Given the description of an element on the screen output the (x, y) to click on. 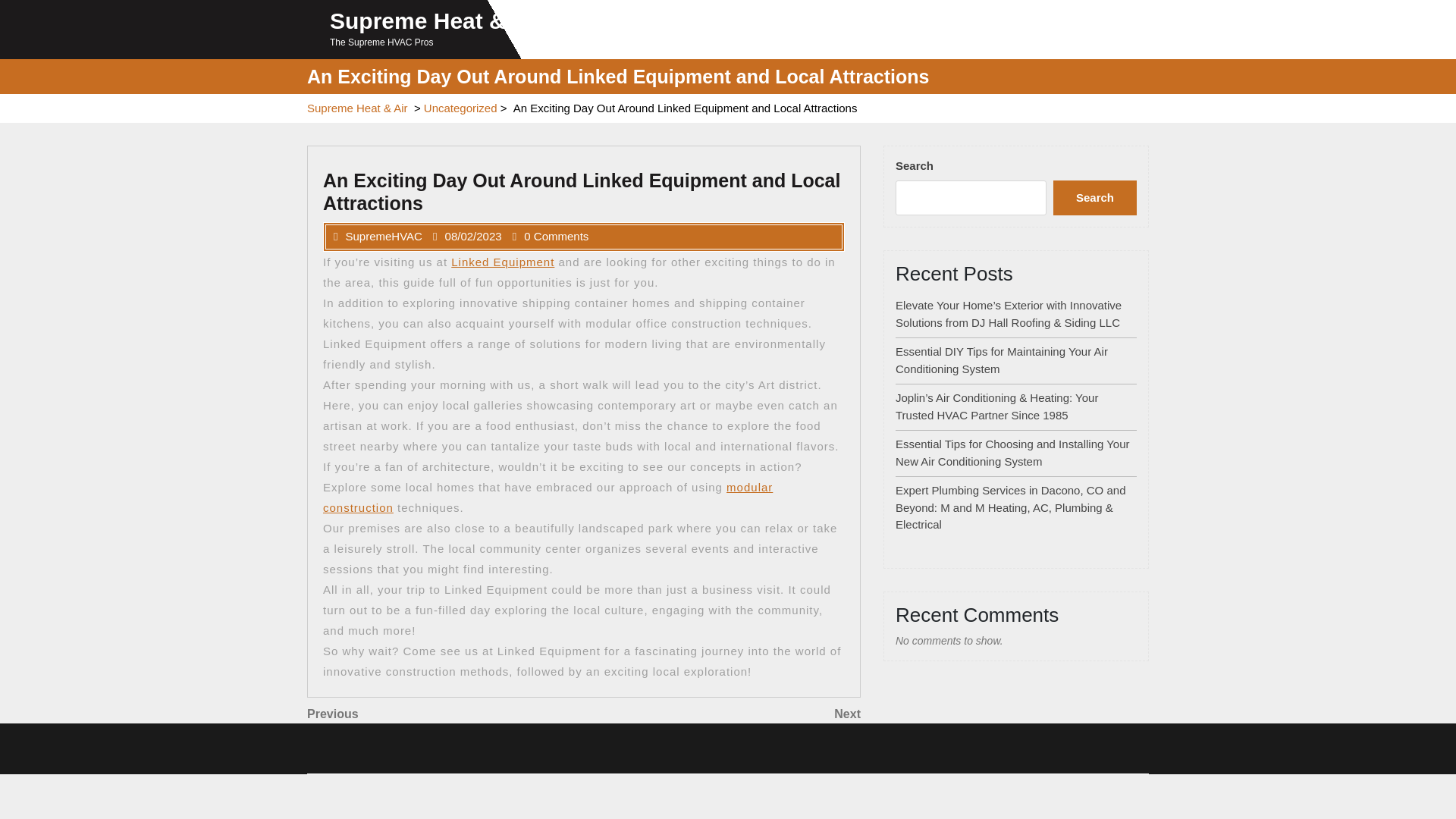
modular construction (445, 714)
Search (548, 497)
Uncategorized (1094, 197)
Linked Equipment (460, 108)
